Given the description of an element on the screen output the (x, y) to click on. 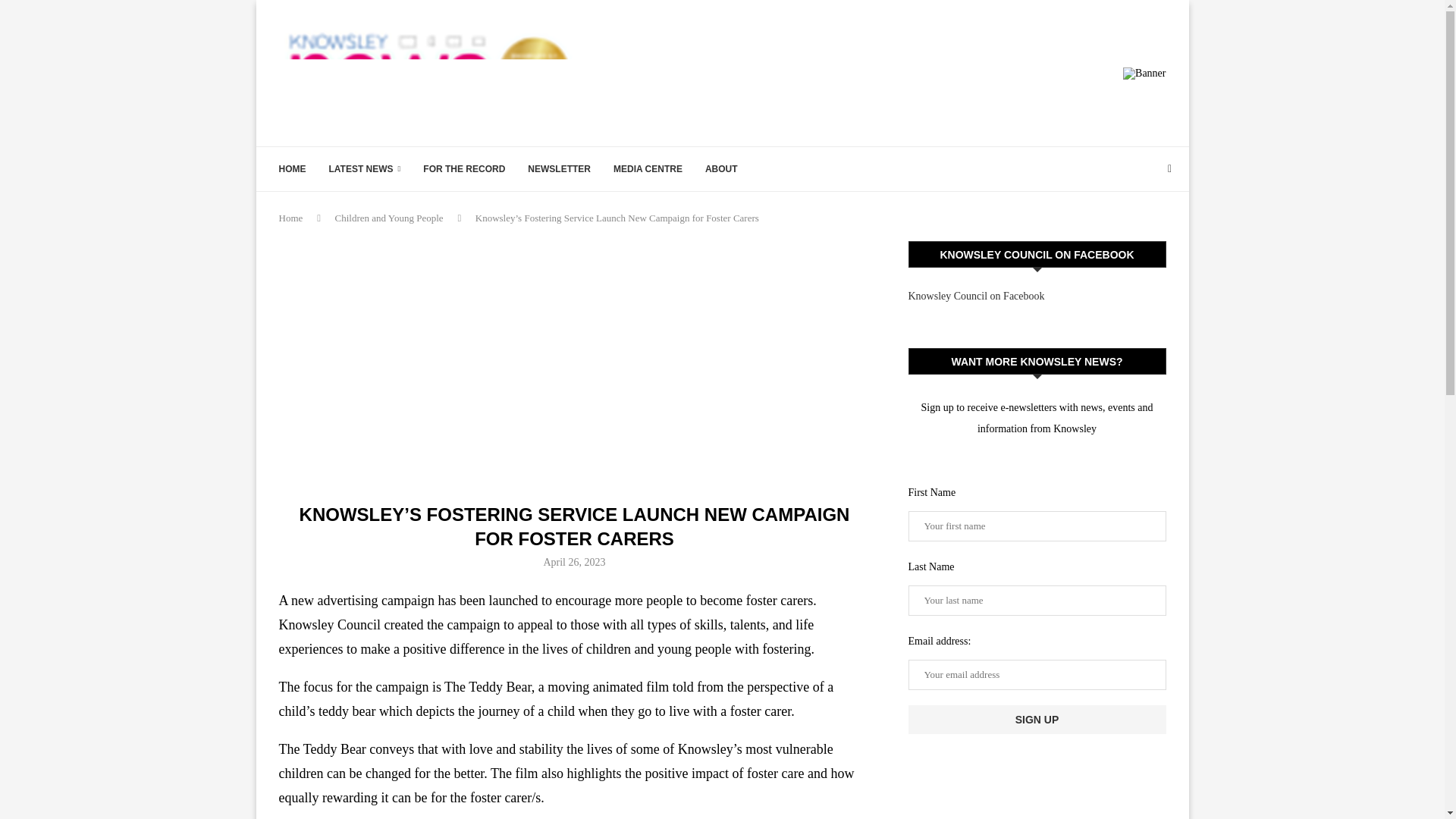
LATEST NEWS (365, 168)
YouTube video player (573, 359)
NEWSLETTER (559, 168)
Knowsley Council on Facebook (976, 296)
MEDIA CENTRE (647, 168)
Sign up (1037, 719)
FOR THE RECORD (464, 168)
Sign up (1037, 719)
Home (290, 217)
Children and Young People (389, 217)
